Given the description of an element on the screen output the (x, y) to click on. 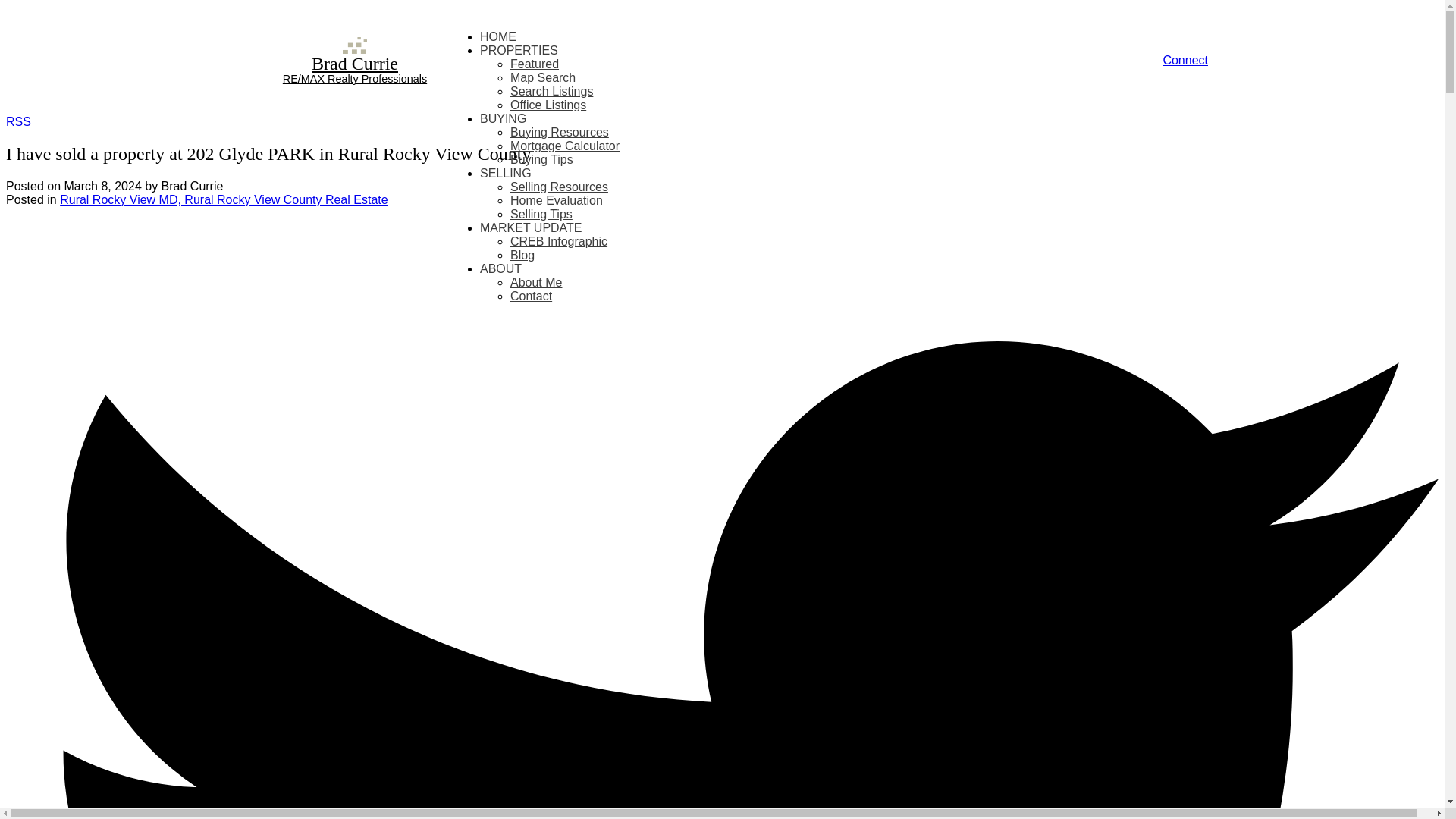
Rural Rocky View MD, Rural Rocky View County Real Estate (223, 199)
Blog (522, 254)
Connect (1184, 60)
Search Listings (551, 91)
HOME (498, 37)
Contact (531, 295)
Map Search (543, 77)
Home Evaluation (556, 200)
About Me (536, 282)
Featured (535, 63)
